Given the description of an element on the screen output the (x, y) to click on. 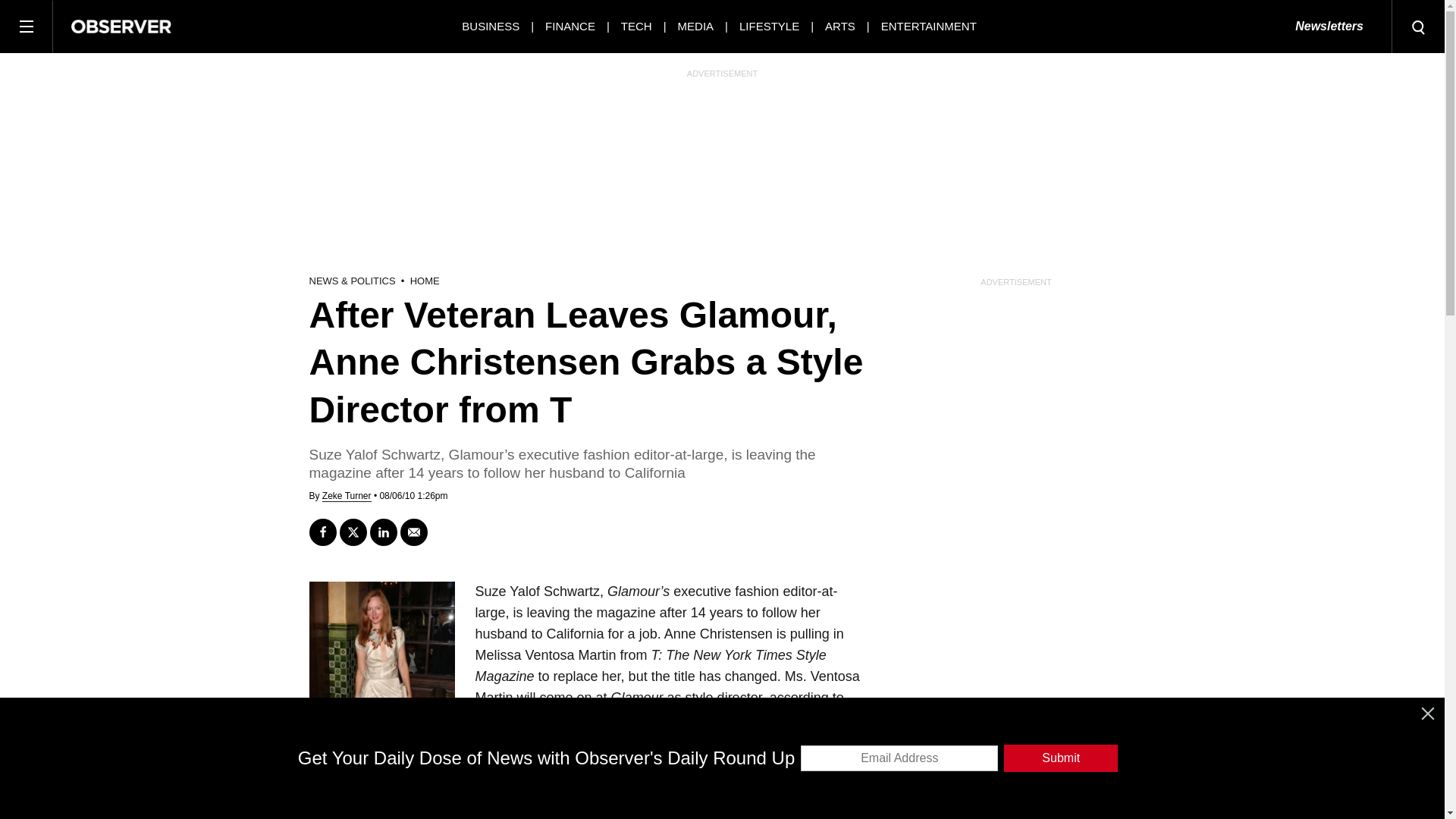
TECH (636, 25)
ARTS (840, 25)
MEDIA (696, 25)
Newsletters (1329, 26)
ENTERTAINMENT (928, 25)
Observer (121, 26)
LIFESTYLE (769, 25)
BUSINESS (490, 25)
Share on Facebook (322, 532)
Tweet (352, 532)
Share on LinkedIn (383, 532)
FINANCE (569, 25)
Send email (414, 532)
View All Posts by Zeke Turner (346, 496)
